Given the description of an element on the screen output the (x, y) to click on. 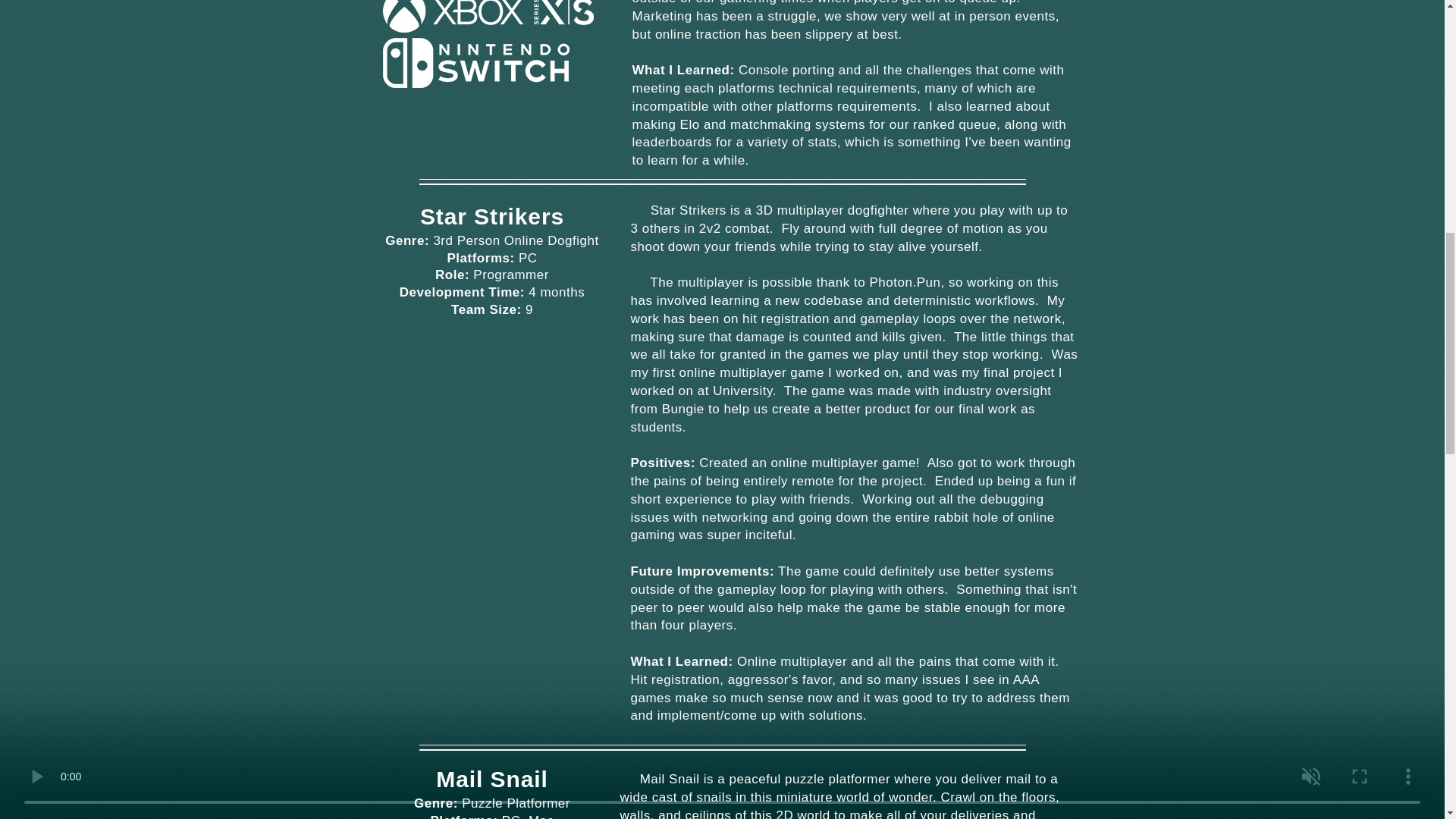
Embedded Content (520, 586)
Embedded Content (498, 410)
Xbox Store (486, 16)
Switch Store (475, 62)
